Given the description of an element on the screen output the (x, y) to click on. 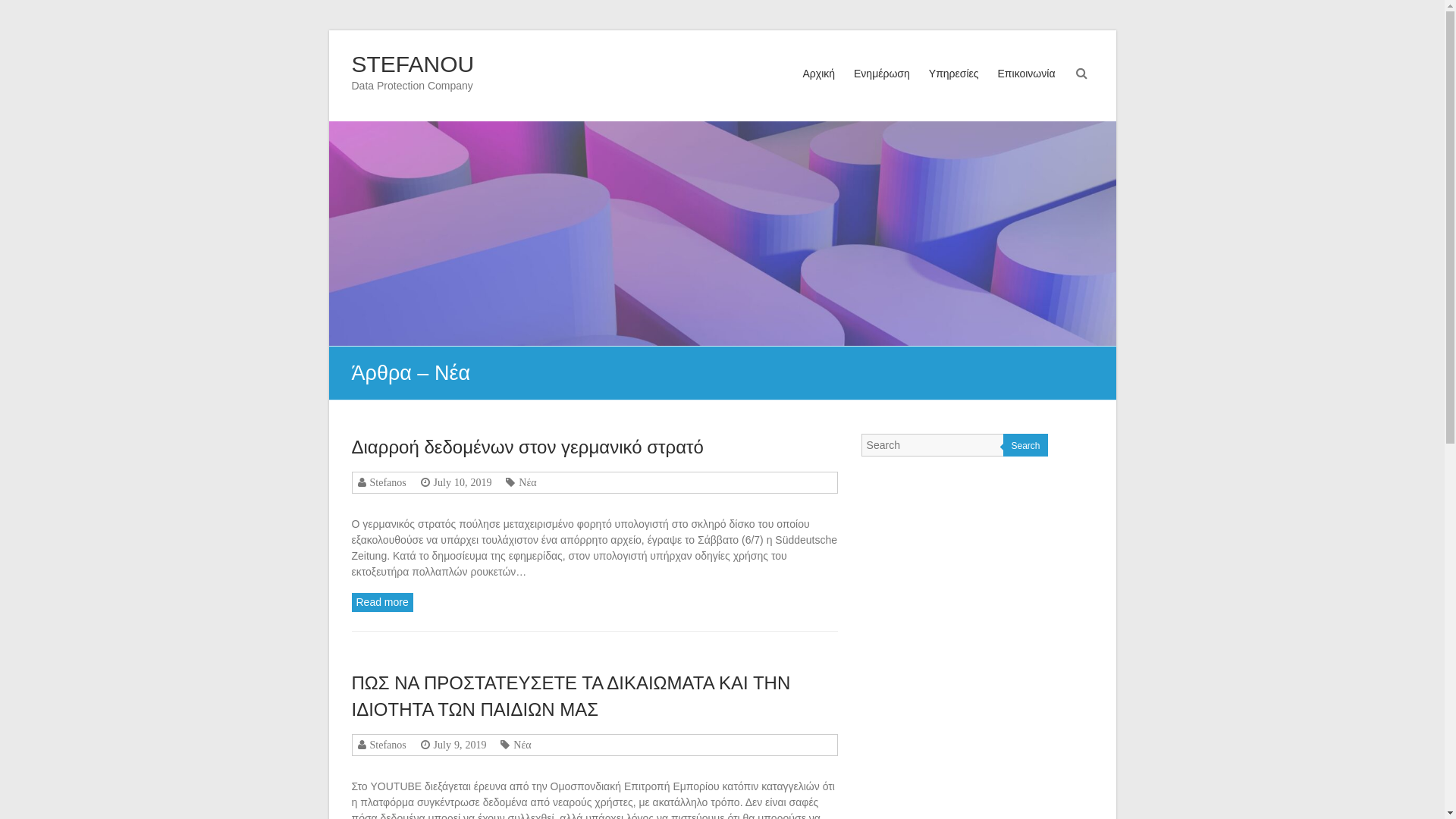
Skip to content Element type: text (327, 29)
Read more Element type: text (382, 602)
Stefanos Element type: text (385, 744)
Search Element type: text (1025, 444)
July 10, 2019 Element type: text (460, 481)
Search Element type: text (21, 11)
STEFANOU Element type: text (412, 63)
Stefanos Element type: text (385, 481)
July 9, 2019 Element type: text (457, 744)
